Given the description of an element on the screen output the (x, y) to click on. 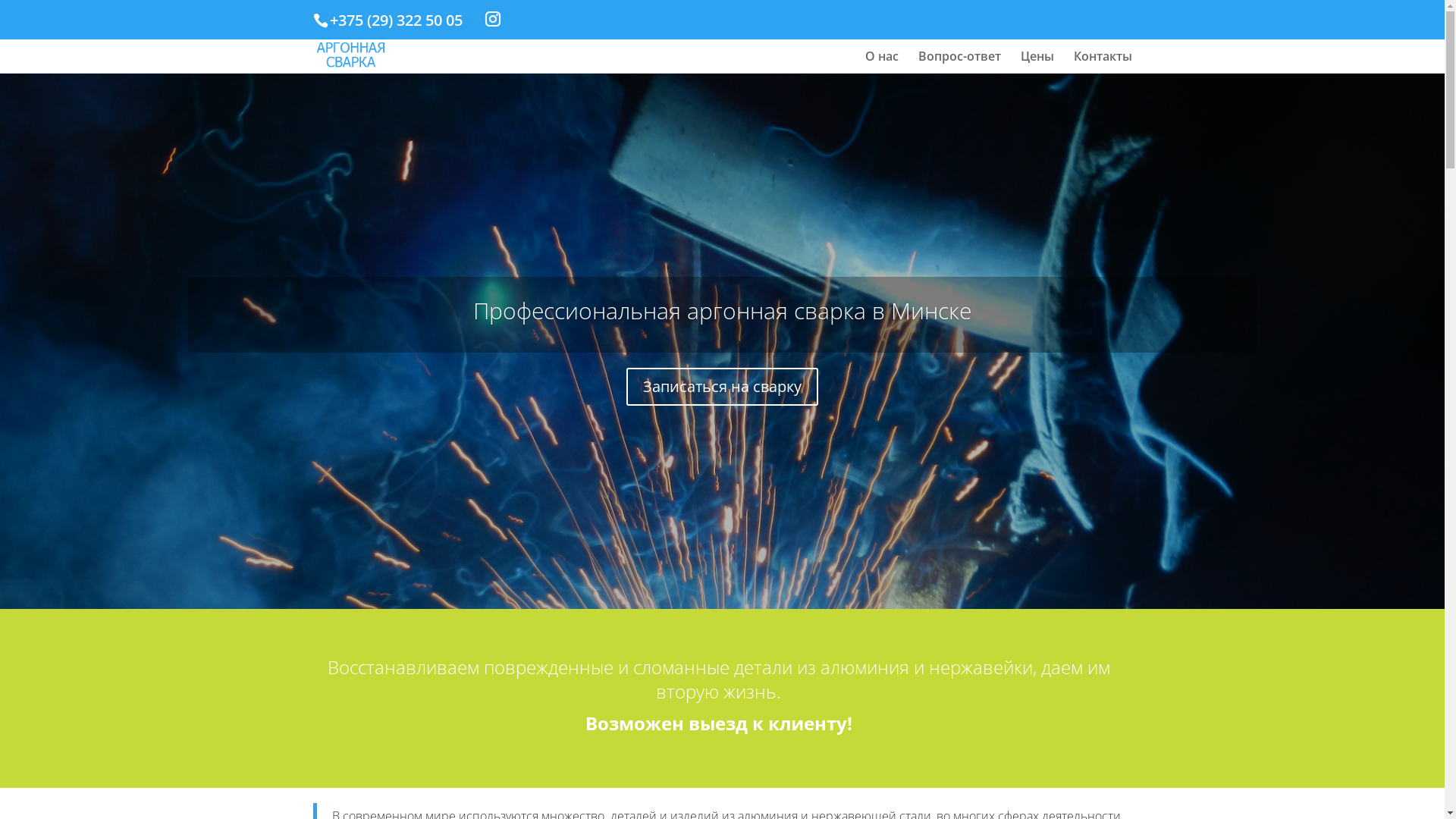
+375 (29) 322 50 05 Element type: text (395, 19)
